Given the description of an element on the screen output the (x, y) to click on. 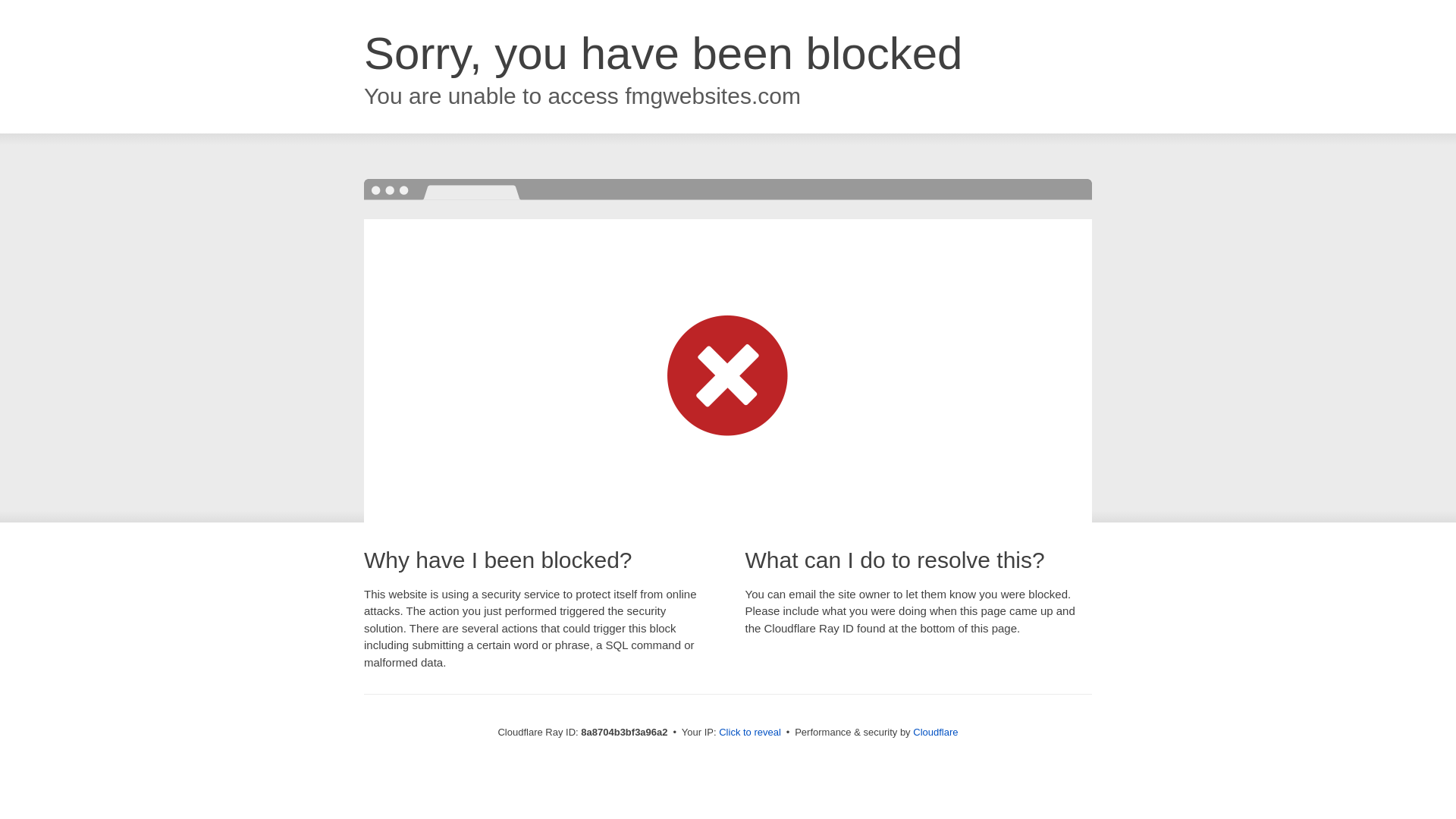
Cloudflare (935, 731)
Click to reveal (749, 732)
